Given the description of an element on the screen output the (x, y) to click on. 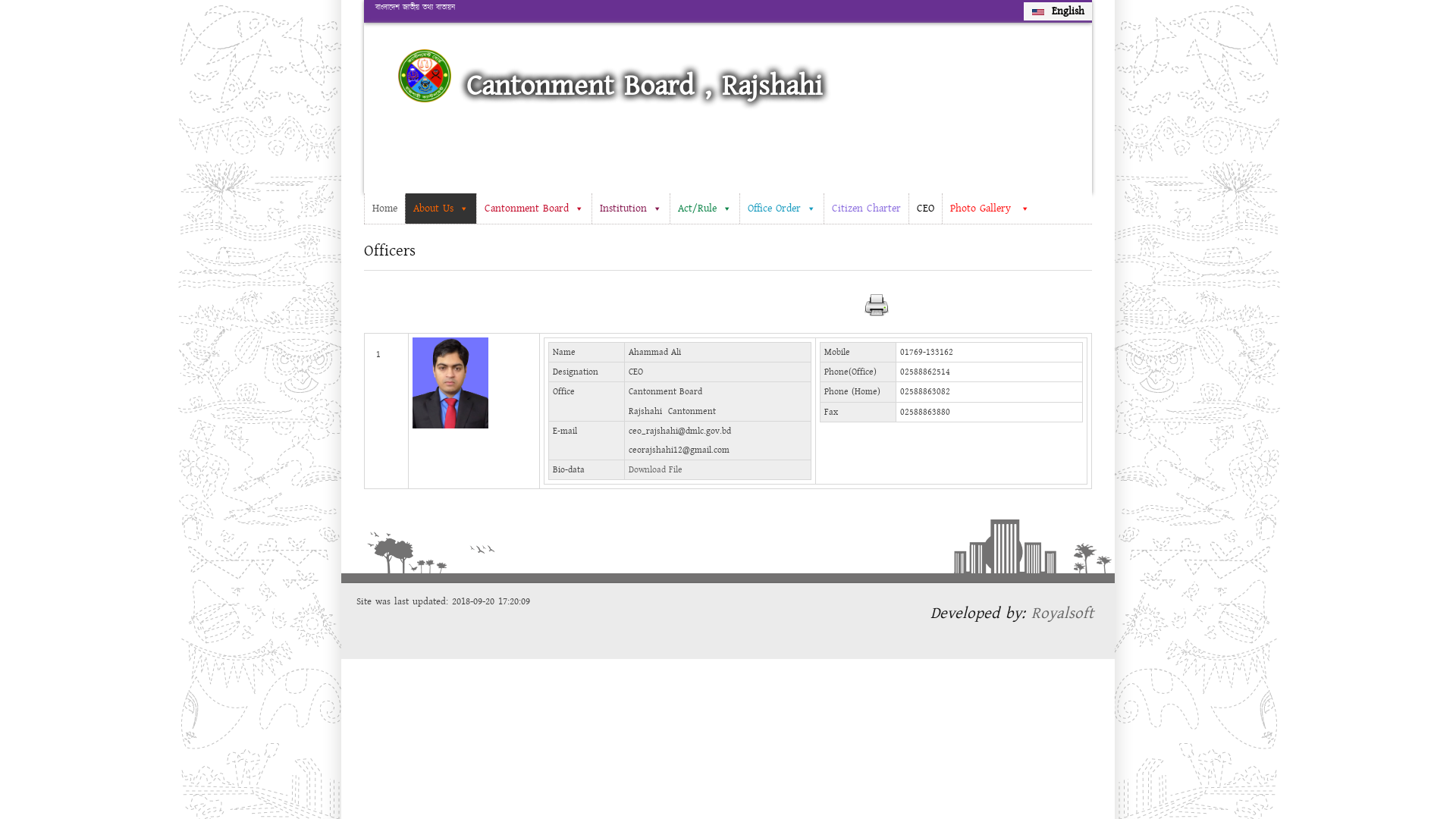
About Us Element type: text (440, 208)
Office Order Element type: text (781, 208)
Act/Rule Element type: text (704, 208)
Institution Element type: text (630, 208)
Cantonment Board Element type: text (533, 208)
Cantonment Board , Rajshahi Element type: text (644, 85)
Click me to print Element type: hover (876, 305)
CEO Element type: text (924, 208)
Citizen Charter Element type: text (865, 208)
Home Element type: hover (424, 75)
Home Element type: text (384, 208)
Royalsoft  Element type: text (1065, 612)
Photo Gallery Element type: text (989, 208)
English Element type: text (1057, 11)
Download File Element type: text (655, 469)
